Given the description of an element on the screen output the (x, y) to click on. 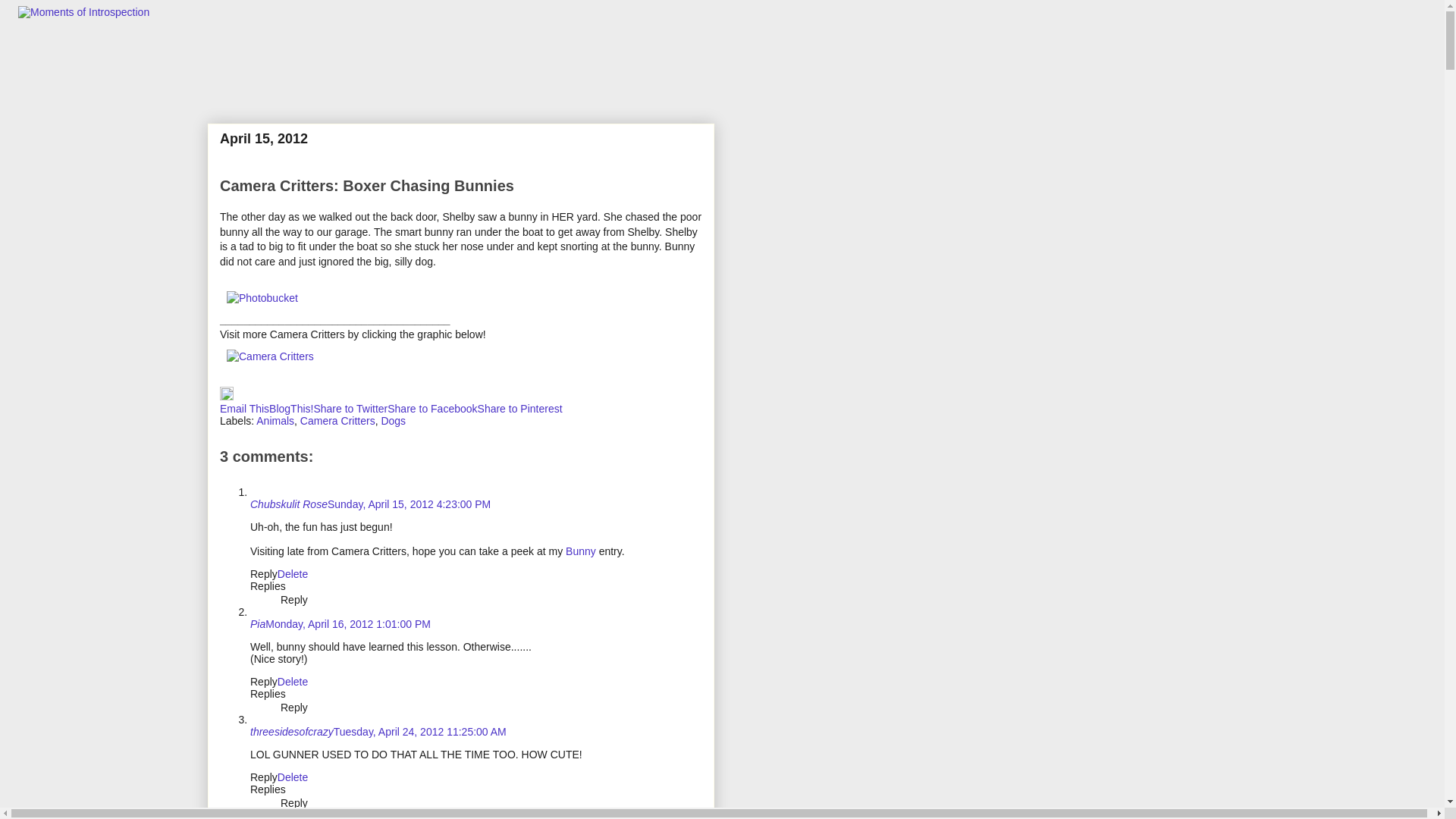
Share to Facebook (432, 408)
Delete (292, 573)
BlogThis! (291, 408)
Pia (257, 623)
Reply (264, 681)
Camera Critters (337, 420)
Replies (267, 788)
Email This (244, 408)
BlogThis! (291, 408)
Delete (292, 681)
Share to Twitter (350, 408)
Reply (294, 707)
Share to Pinterest (519, 408)
Share to Facebook (432, 408)
Email This (244, 408)
